Given the description of an element on the screen output the (x, y) to click on. 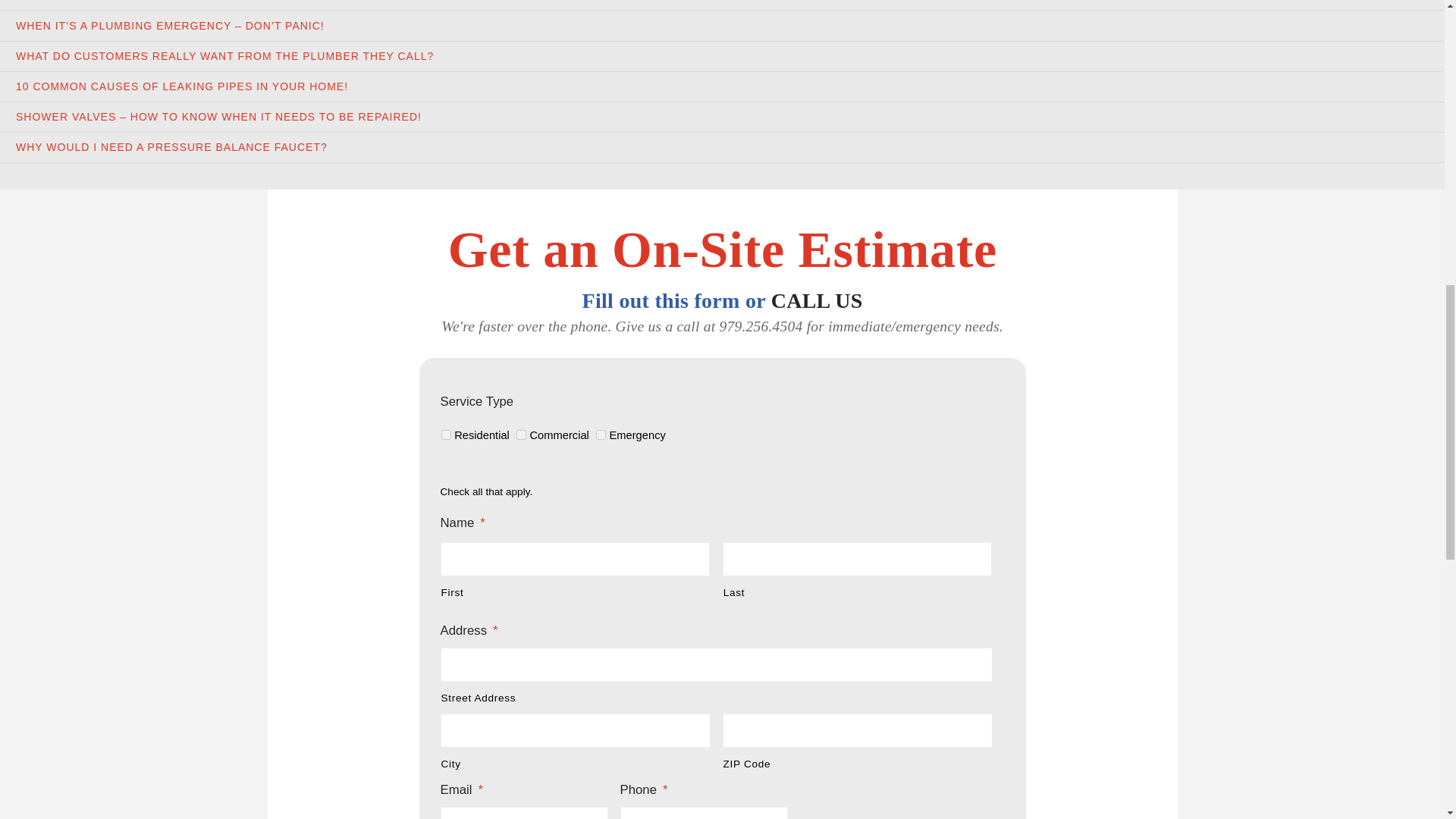
Commercial (520, 434)
Residential (446, 434)
WHY WOULD I NEED A PRESSURE BALANCE FAUCET? (171, 146)
Emergency (600, 434)
CALL US (817, 300)
10 COMMON CAUSES OF LEAKING PIPES IN YOUR HOME! (181, 86)
WHAT DO CUSTOMERS REALLY WANT FROM THE PLUMBER THEY CALL? (224, 55)
